Given the description of an element on the screen output the (x, y) to click on. 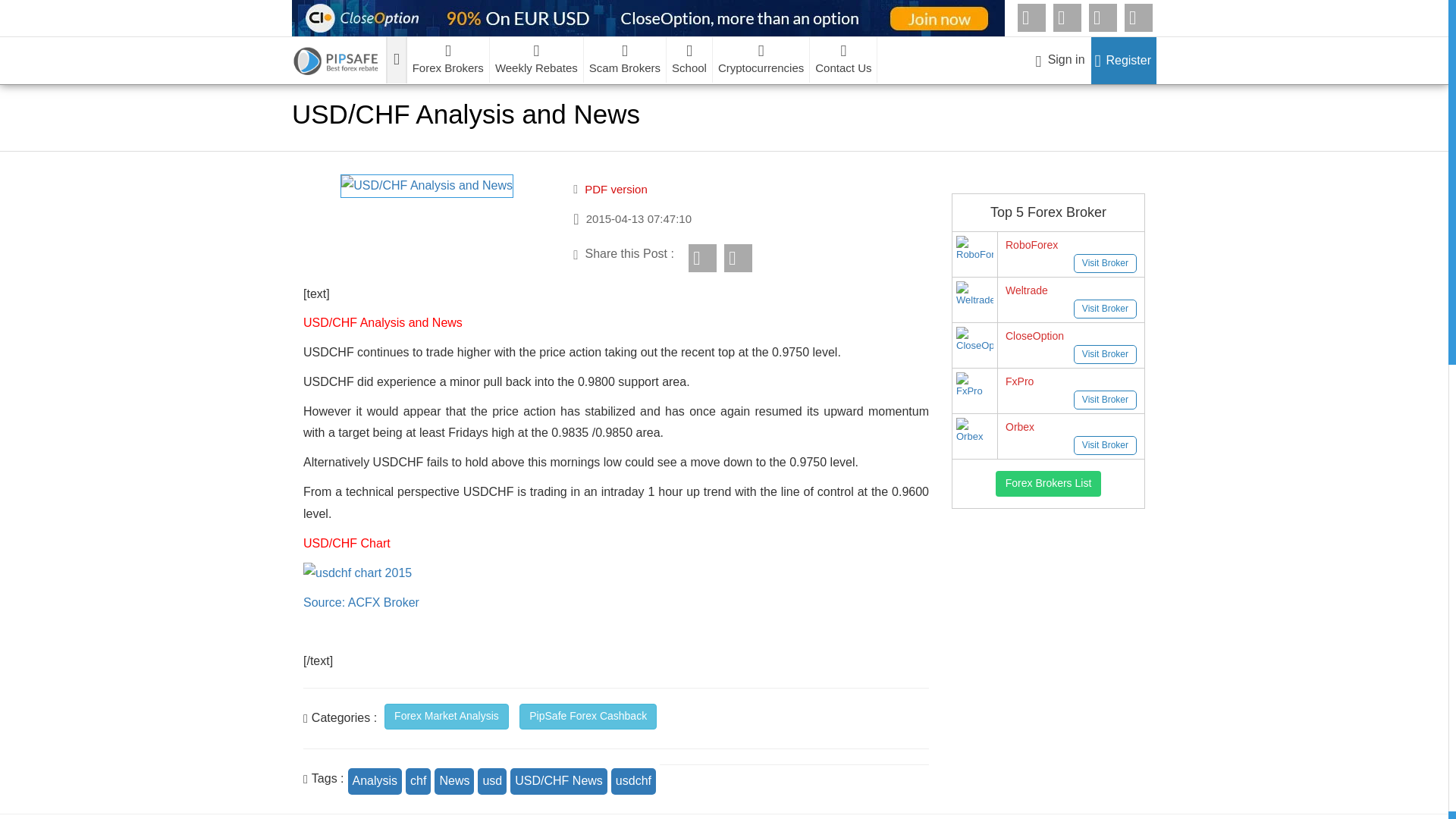
Telegram (1031, 17)
Forex Brokers (448, 59)
Instagram (1138, 17)
Skype (1066, 17)
twitter (1102, 17)
